Given the description of an element on the screen output the (x, y) to click on. 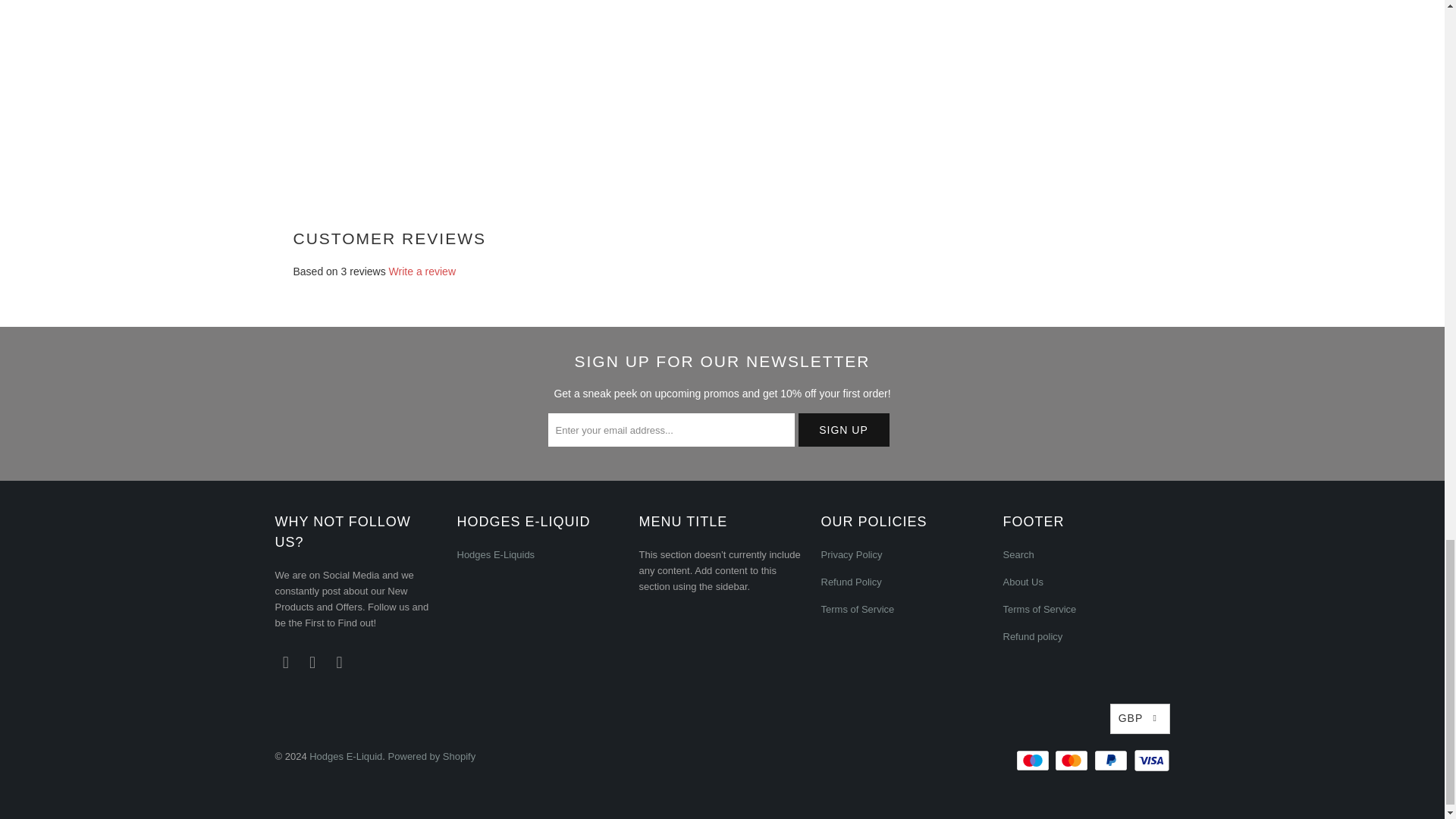
Hodges E-Liquid on Instagram (312, 662)
Mastercard (1072, 760)
Sign Up (842, 429)
Write a review (421, 271)
Hodges E-Liquid on Facebook (286, 662)
PayPal (1112, 760)
Maestro (1034, 760)
Visa (1150, 760)
